Given the description of an element on the screen output the (x, y) to click on. 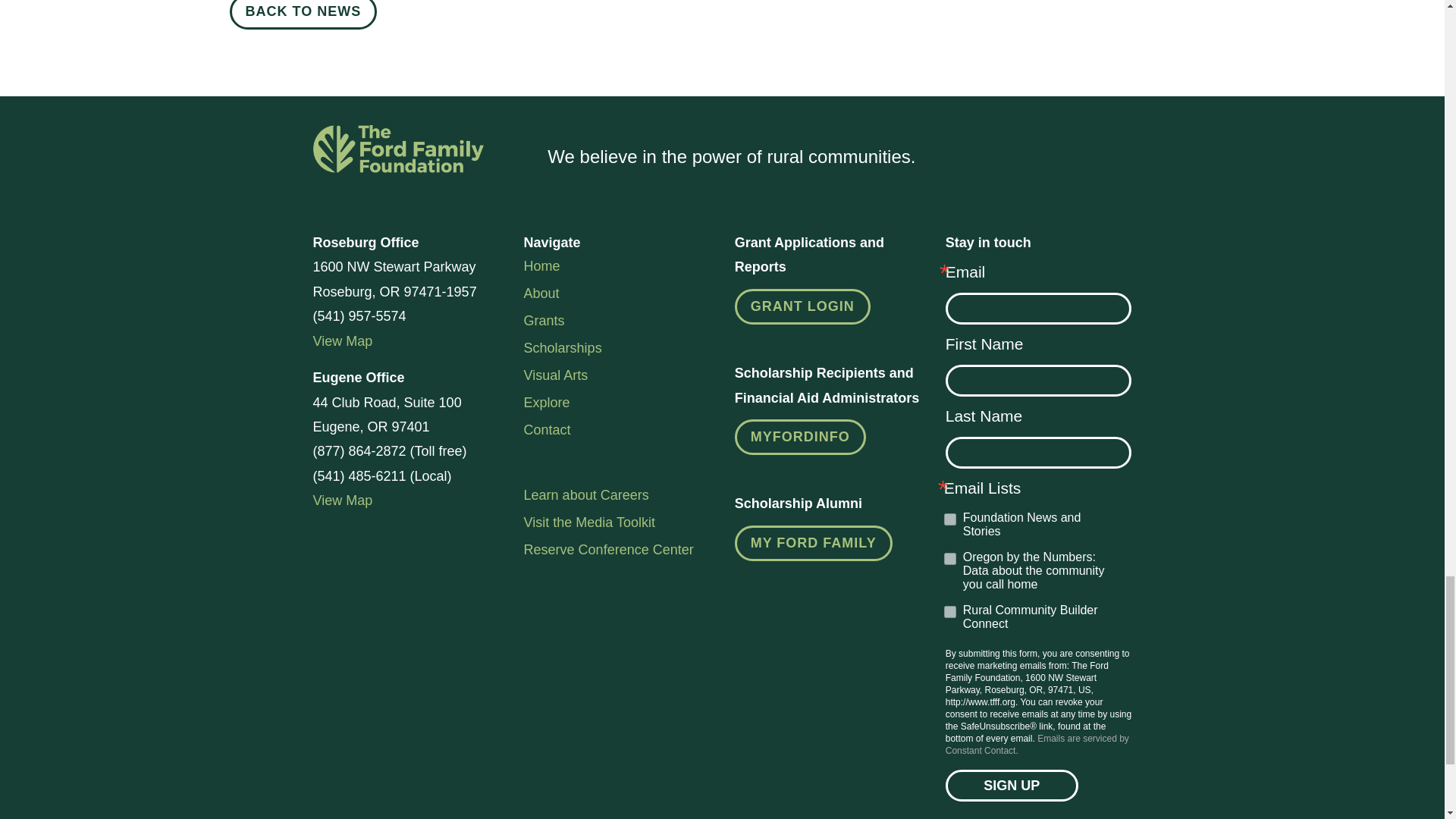
60a6fc7a-a45f-11ea-9876-d4ae528ec60a (949, 612)
footer-logo (398, 148)
f0b890d2-9e5b-11ed-a414-fa163e0f8365 (949, 519)
23f02850-3553-11e9-b52d-d4ae52754dbc (949, 558)
